Given the description of an element on the screen output the (x, y) to click on. 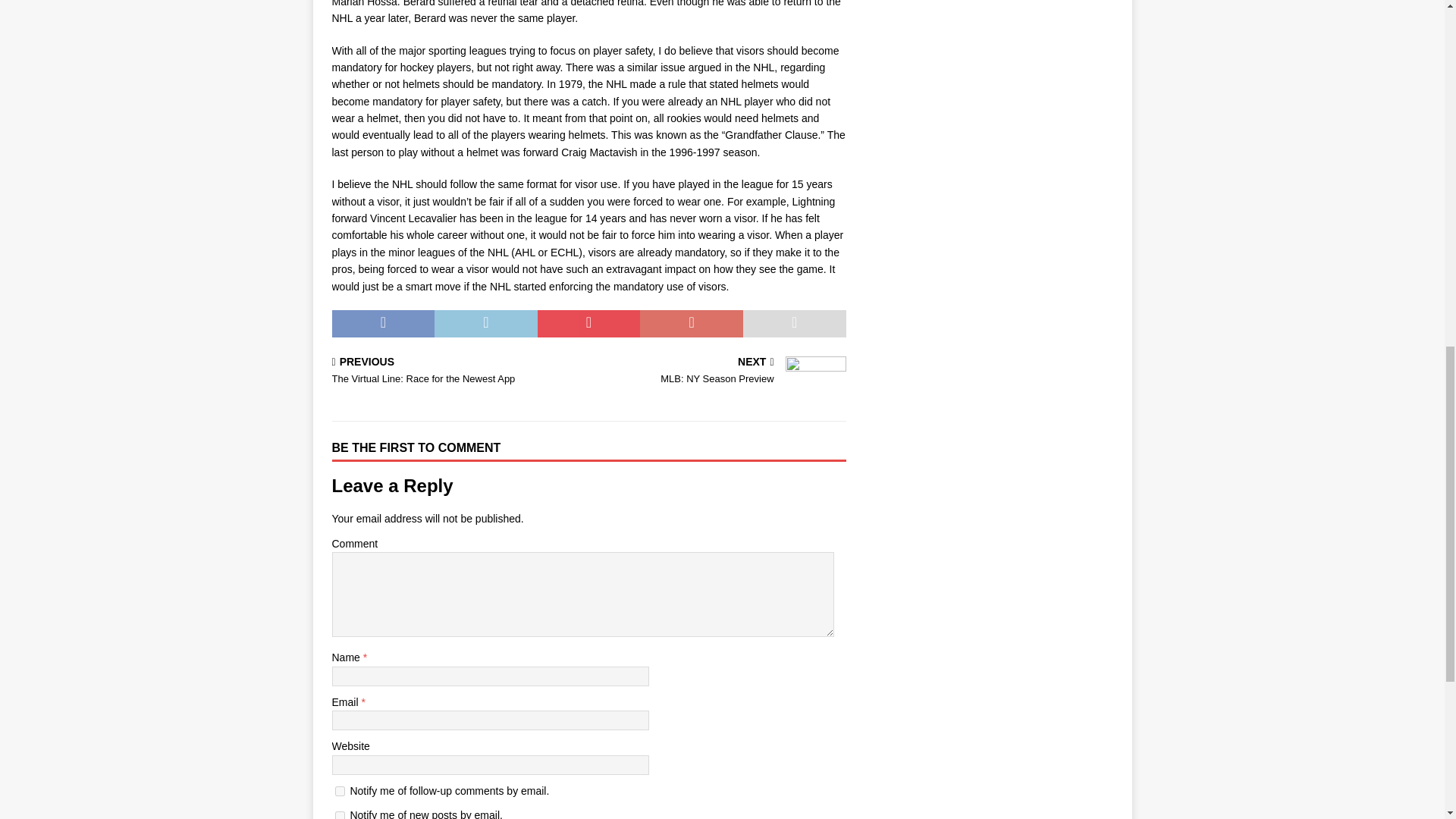
subscribe (339, 815)
subscribe (339, 791)
